Given the description of an element on the screen output the (x, y) to click on. 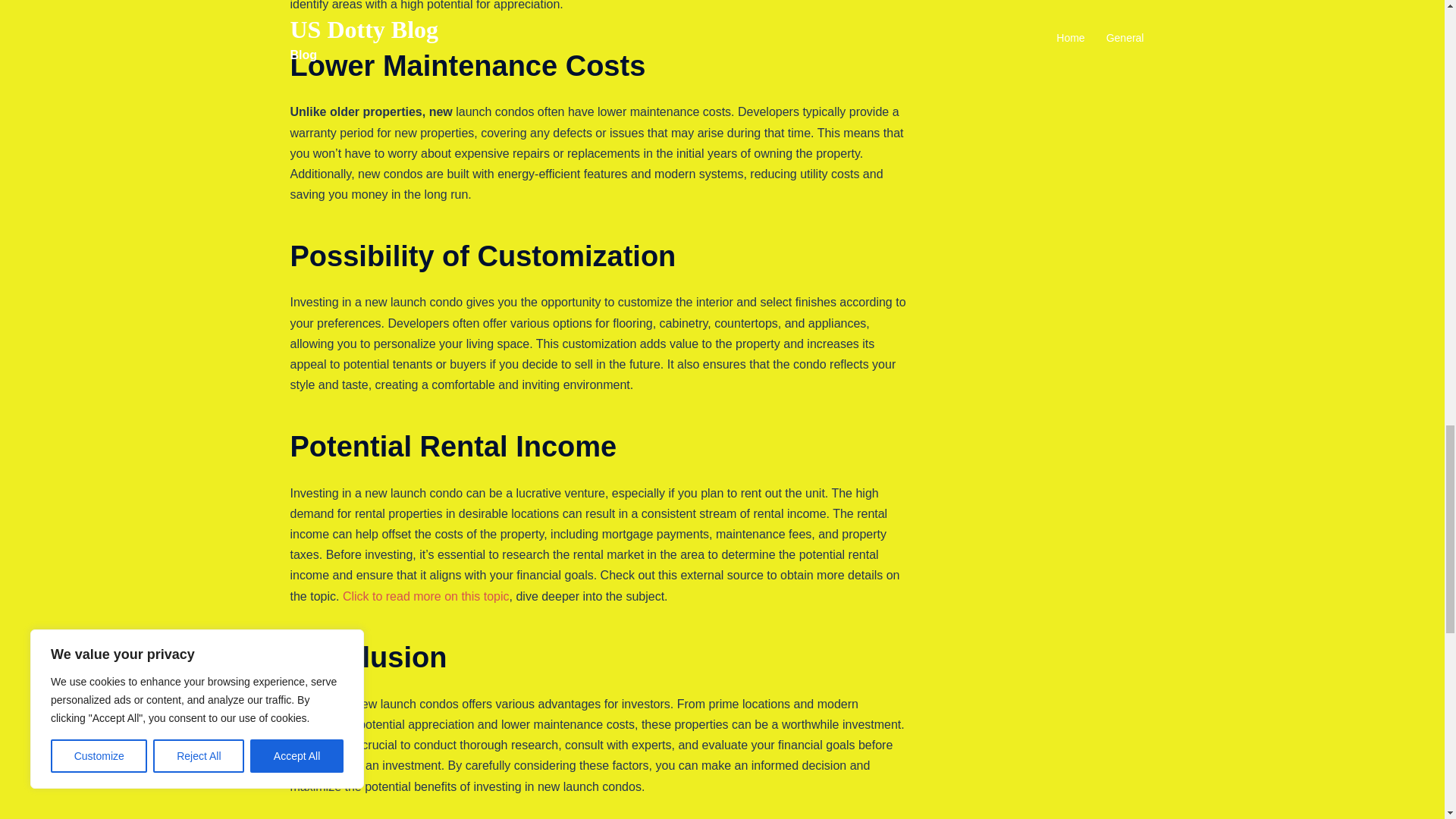
Click to read more on this topic (425, 595)
